Given the description of an element on the screen output the (x, y) to click on. 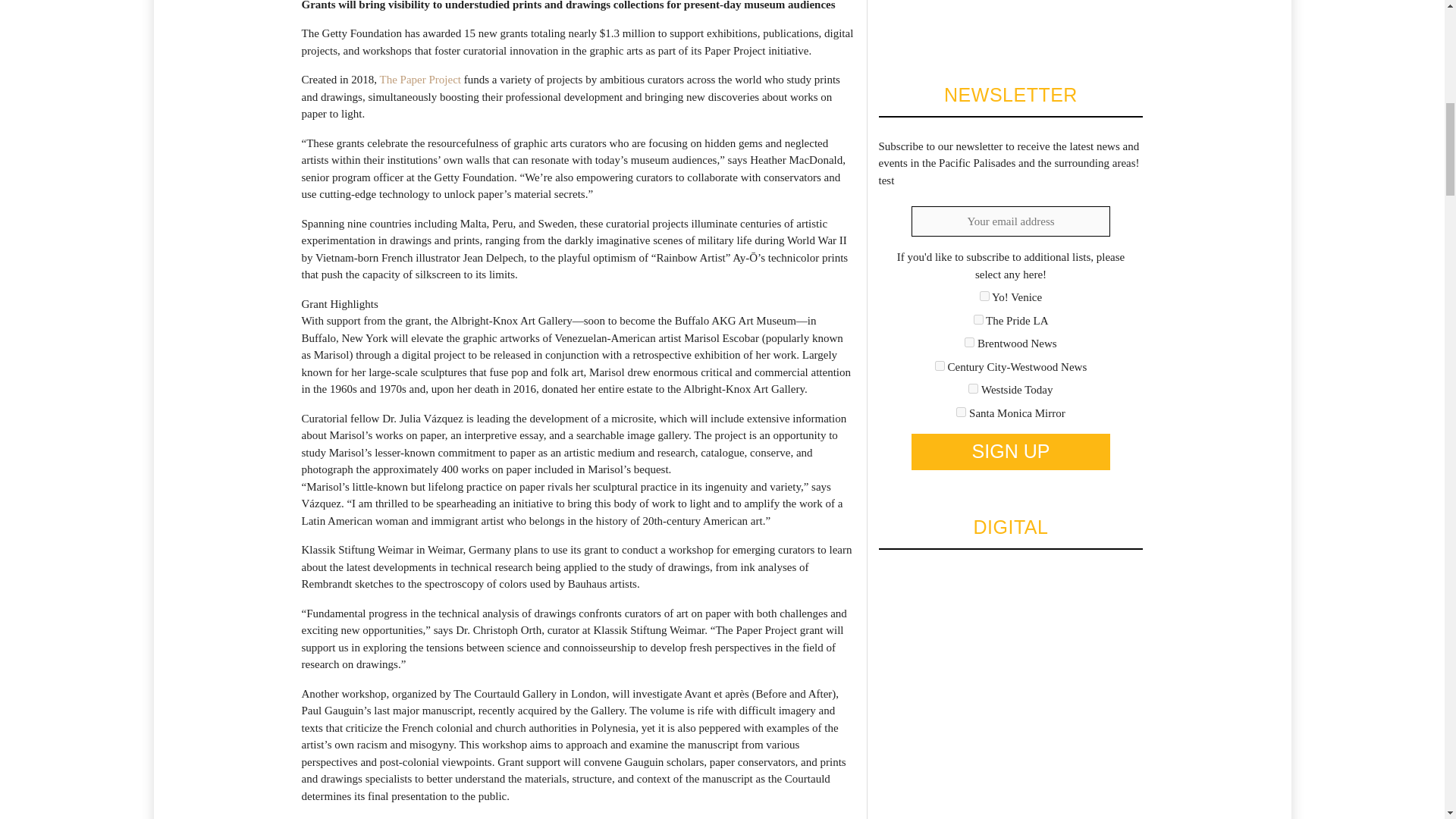
a3d1b6d535 (973, 388)
d0b5733862 (961, 411)
382281a661 (968, 342)
2c616d28b5 (984, 296)
5fac618226 (939, 366)
33f79e7e4d (979, 319)
The Paper Project (420, 79)
Sign up (1010, 452)
